Given the description of an element on the screen output the (x, y) to click on. 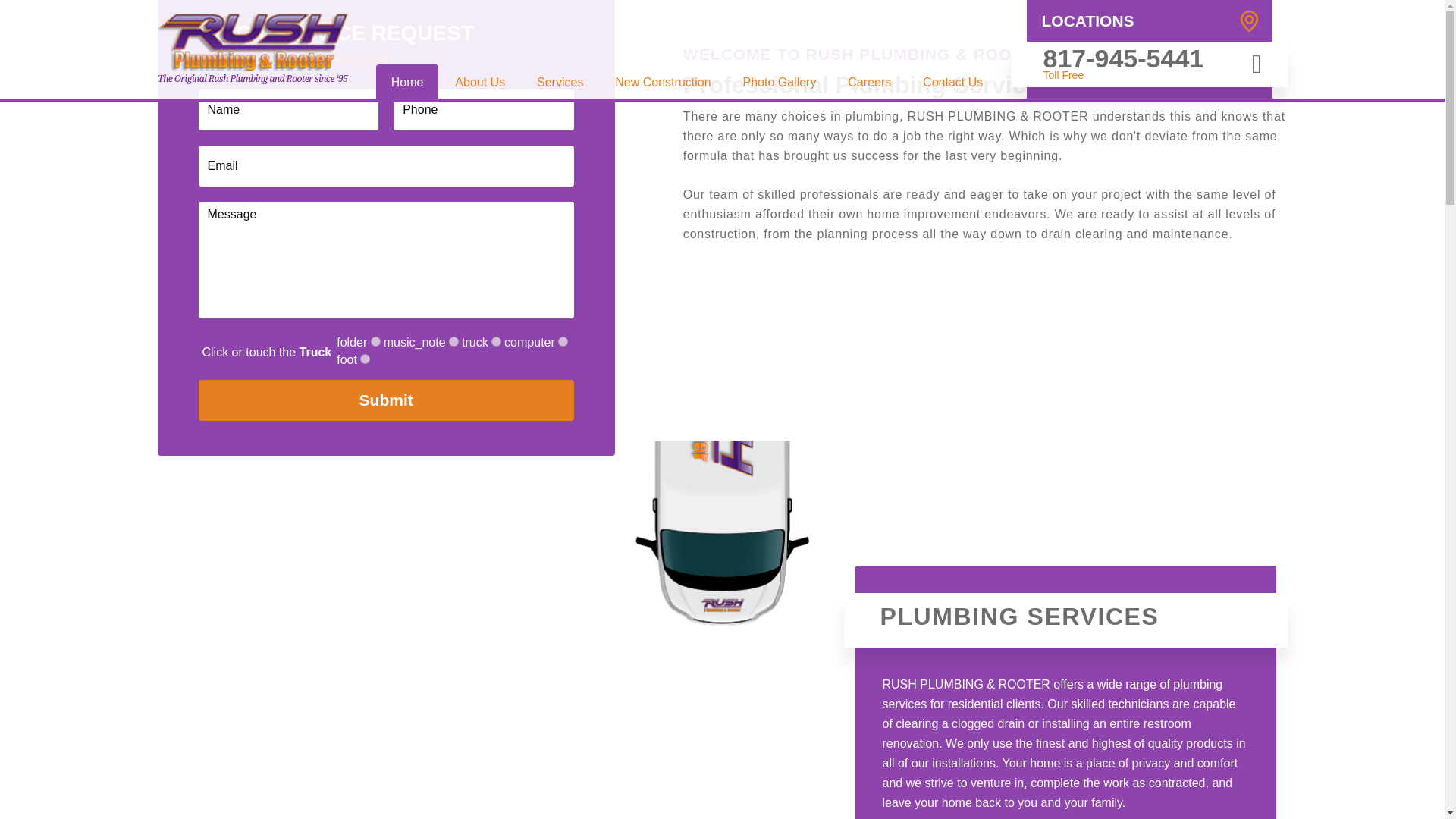
817-945-5441 (1123, 58)
Services (559, 81)
1008429498 (453, 341)
Home (407, 81)
Message (385, 259)
About Us (479, 81)
Submit (385, 400)
1412985381 (364, 358)
189005553 (496, 341)
651533467 (562, 341)
1356953049 (375, 341)
